Given the description of an element on the screen output the (x, y) to click on. 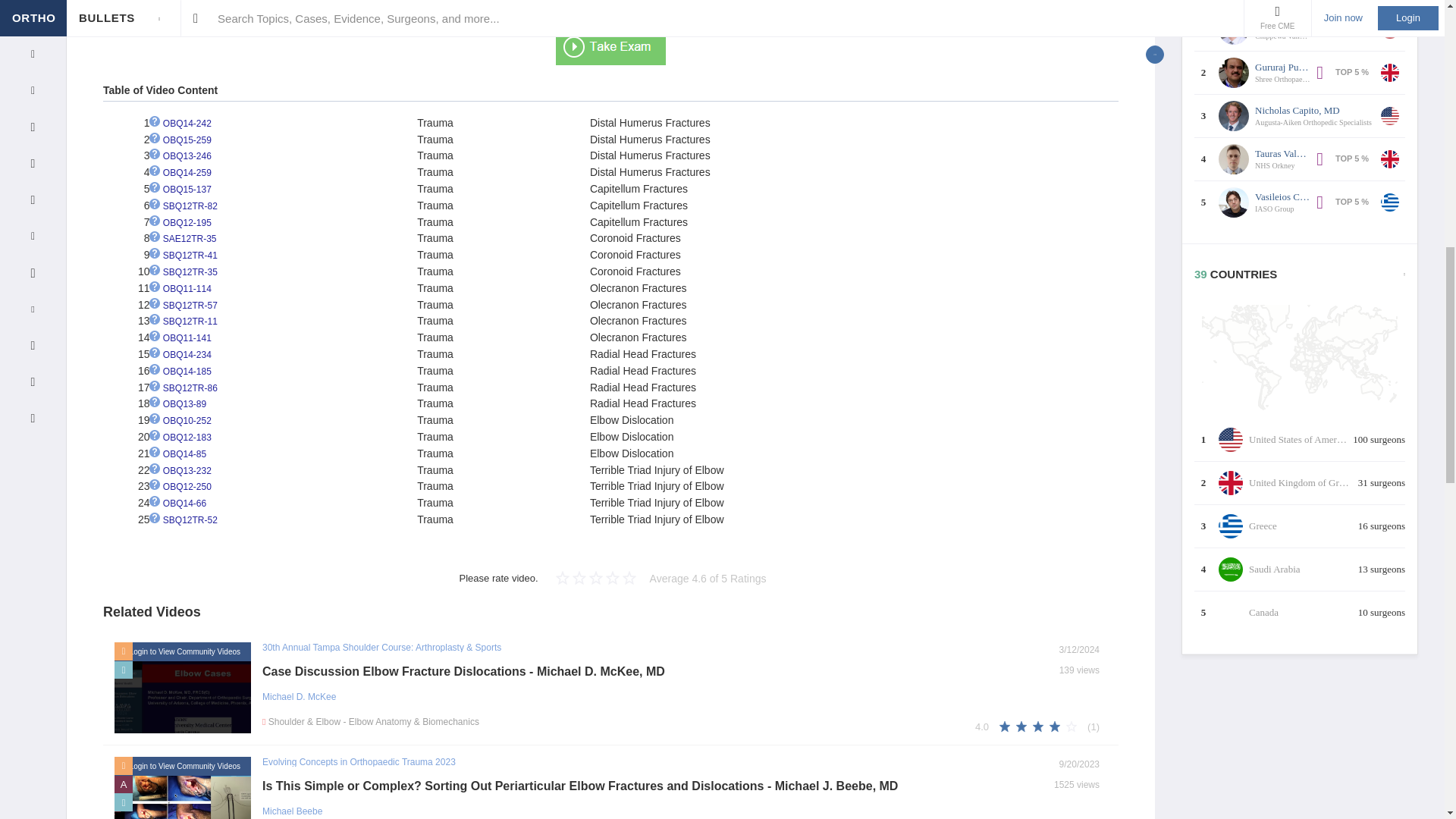
Average Star Rating (983, 726)
Critical (123, 783)
Votes (1091, 726)
